Given the description of an element on the screen output the (x, y) to click on. 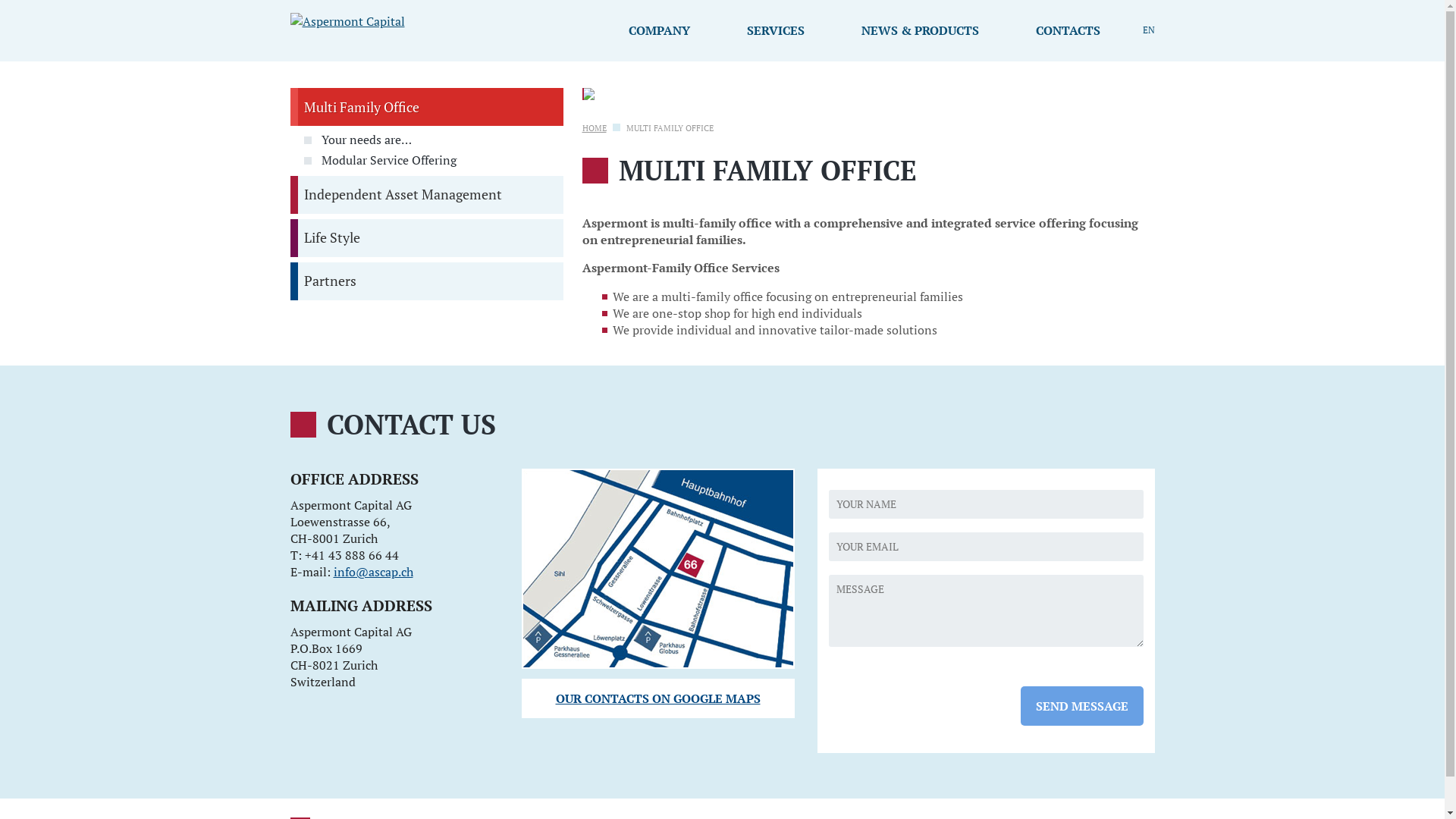
OUR CONTACTS ON GOOGLE MAPS Element type: text (657, 698)
Independent Asset Management Element type: text (425, 194)
SERVICES Element type: text (774, 29)
Modular Service Offering Element type: text (432, 159)
EN Element type: text (1148, 29)
Send message Element type: text (1081, 705)
CONTACTS Element type: text (1068, 29)
HOME Element type: text (594, 128)
Partners Element type: text (425, 281)
COMPANY Element type: text (658, 29)
Multi Family Office Element type: text (425, 106)
info@ascap.ch Element type: text (373, 571)
Life Style Element type: text (425, 238)
NEWS & PRODUCTS Element type: text (919, 29)
